Given the description of an element on the screen output the (x, y) to click on. 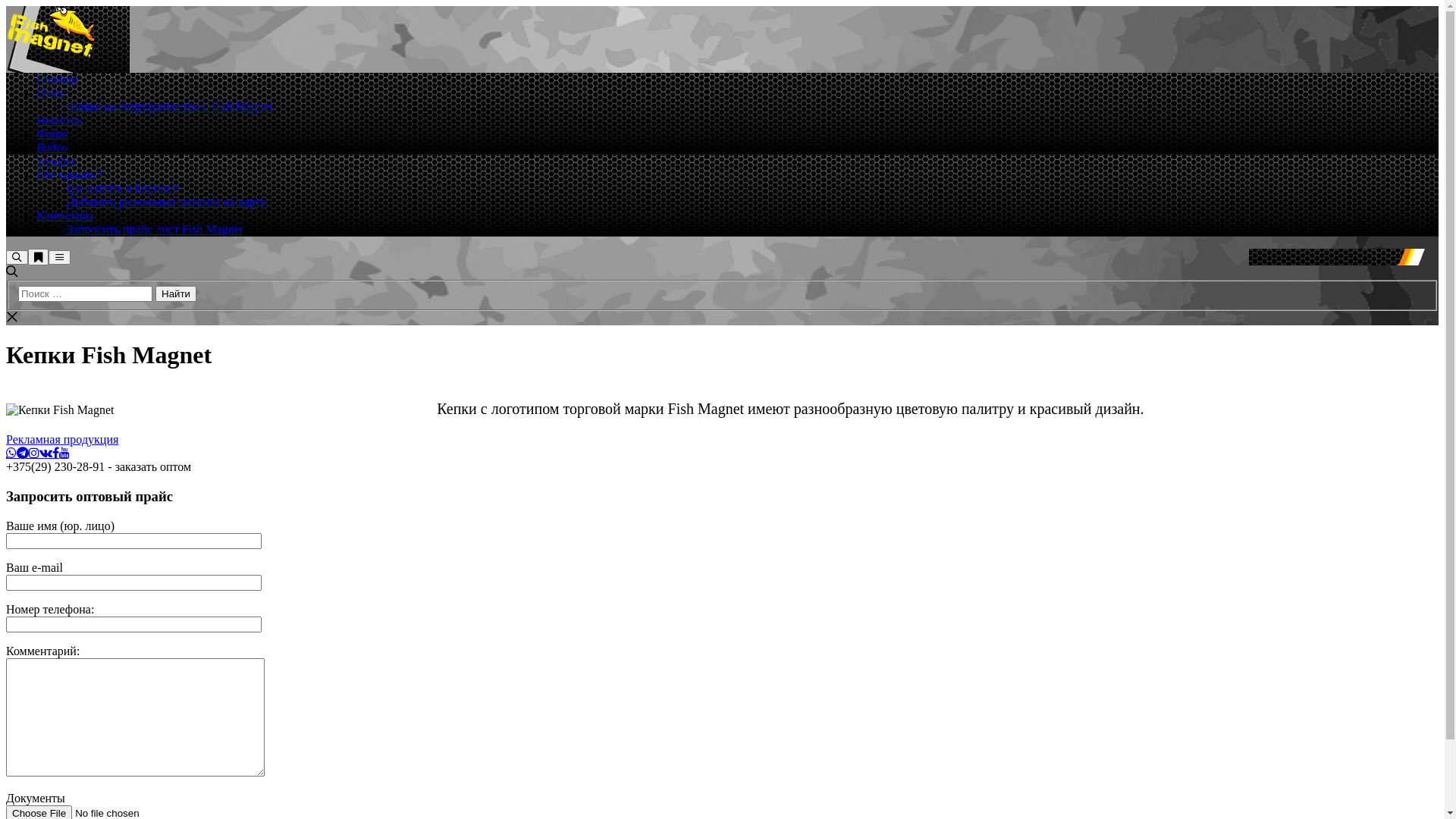
Instagram Element type: hover (33, 452)
Whatsapp Element type: hover (11, 452)
YouTube Element type: hover (64, 452)
Facebook Element type: hover (55, 452)
Telegram Element type: hover (22, 452)
VKontakte Element type: hover (45, 452)
Fish Magnet Element type: hover (51, 53)
